Given the description of an element on the screen output the (x, y) to click on. 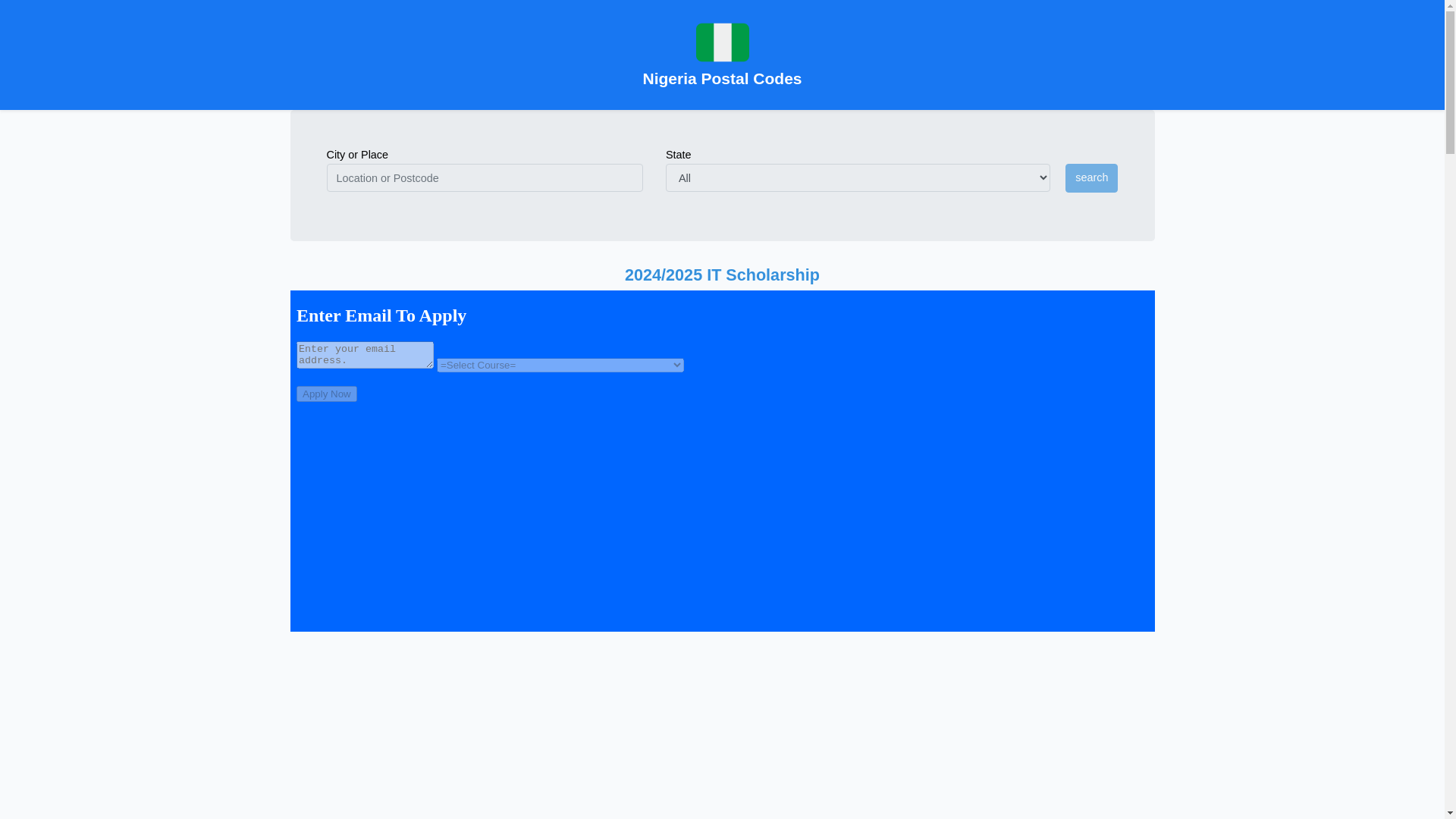
search (1091, 177)
search (1091, 177)
Nigeria Postal Codes (722, 54)
